Given the description of an element on the screen output the (x, y) to click on. 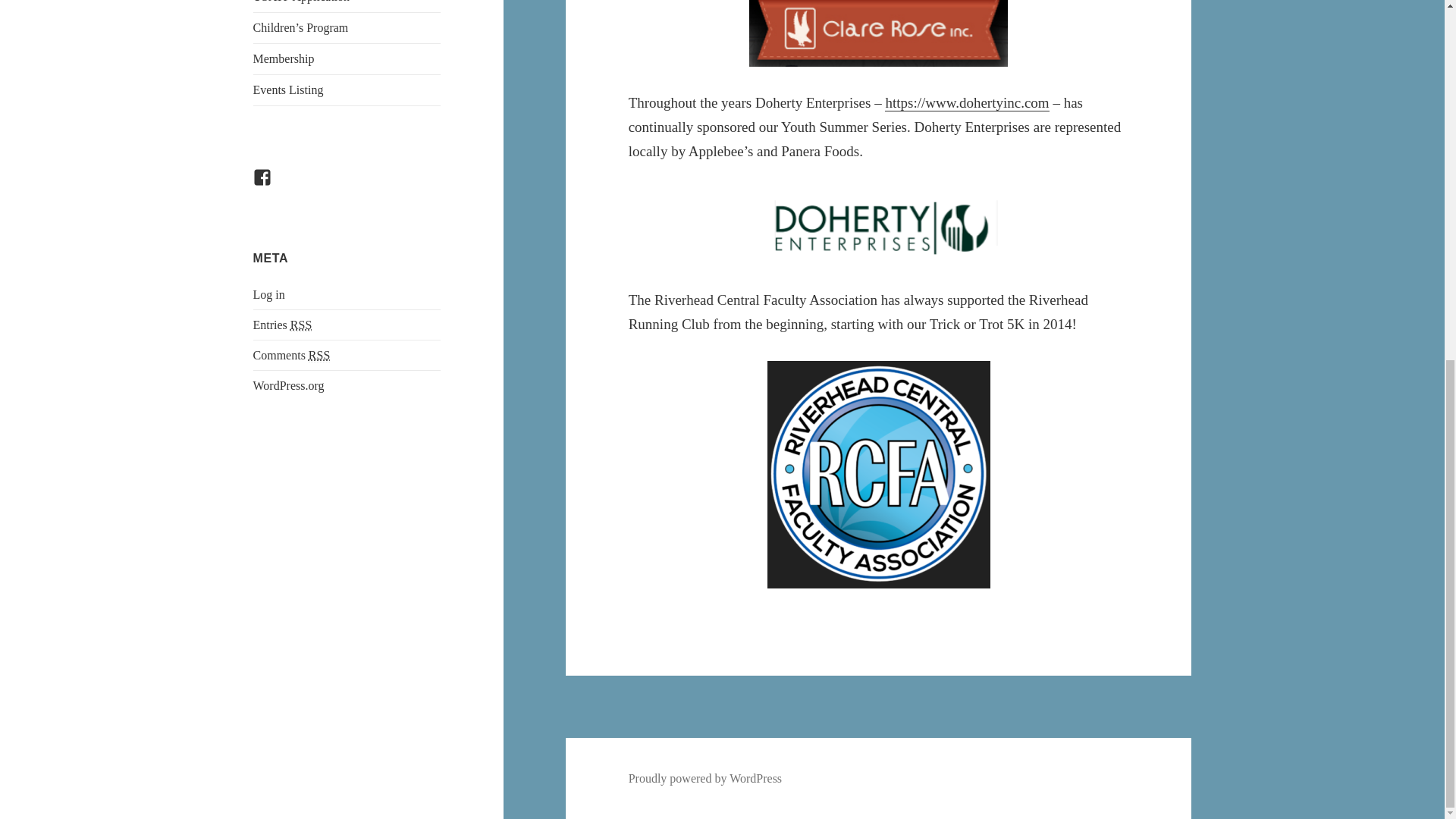
Entries RSS (283, 325)
Events Listing (347, 90)
Proudly powered by WordPress (704, 778)
Log in (269, 294)
Membership (347, 59)
USATF Application (347, 6)
Comments RSS (291, 355)
WordPress.org (288, 385)
Really Simple Syndication (319, 355)
